Given the description of an element on the screen output the (x, y) to click on. 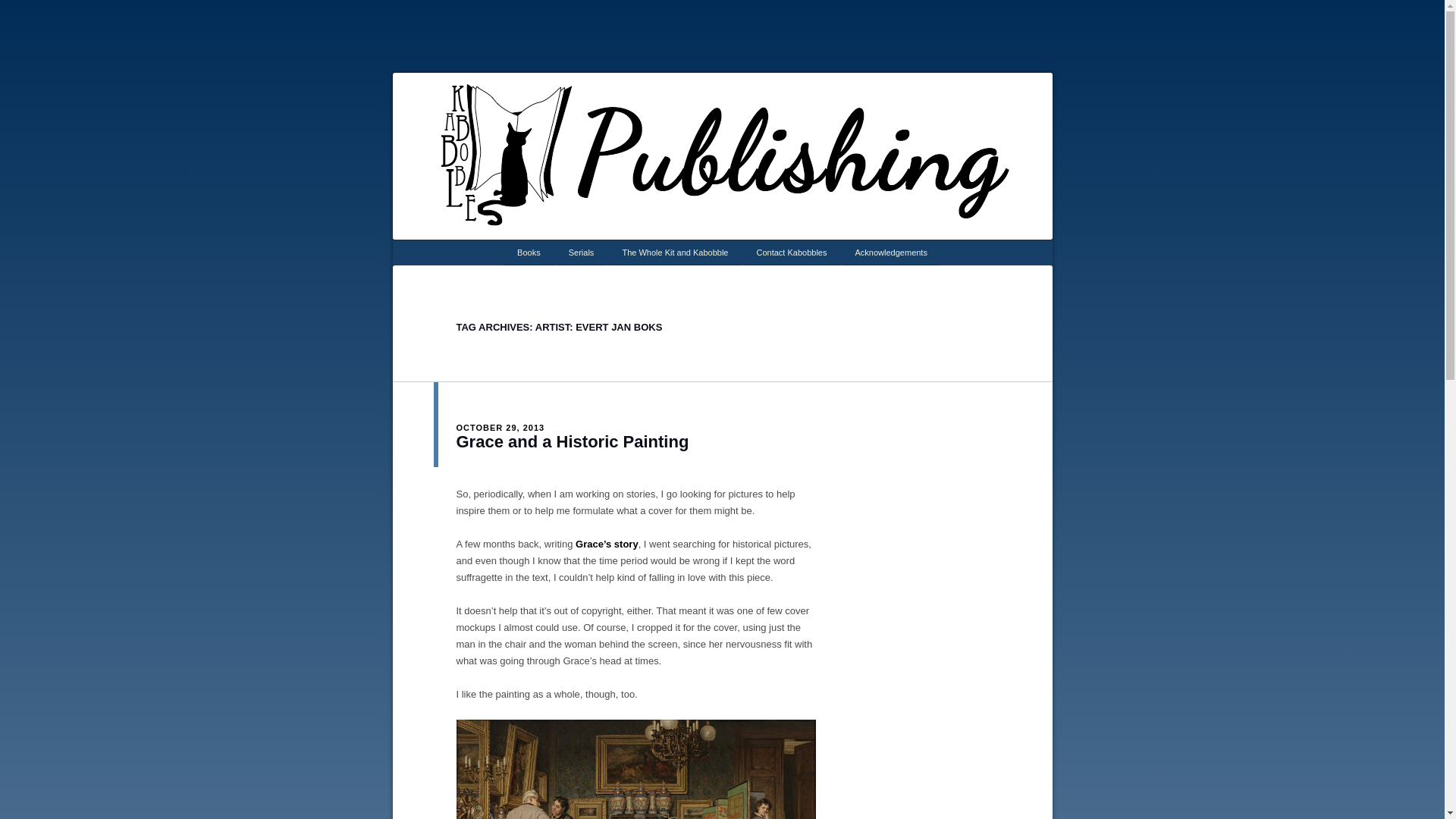
Books (528, 252)
Permalink to Grace and a Historic Painting (572, 441)
Dreams Were All They Gave for Free (607, 543)
Kabobbles Publishing (769, 92)
Kabobbles Publishing (769, 92)
Serials (581, 252)
OCTOBER 29, 2013 (500, 427)
The Whole Kit and Kabobble (674, 252)
Grace and a Historic Painting (572, 441)
Contact Kabobbles (792, 252)
8:05 pm (500, 427)
Acknowledgements (891, 252)
